Given the description of an element on the screen output the (x, y) to click on. 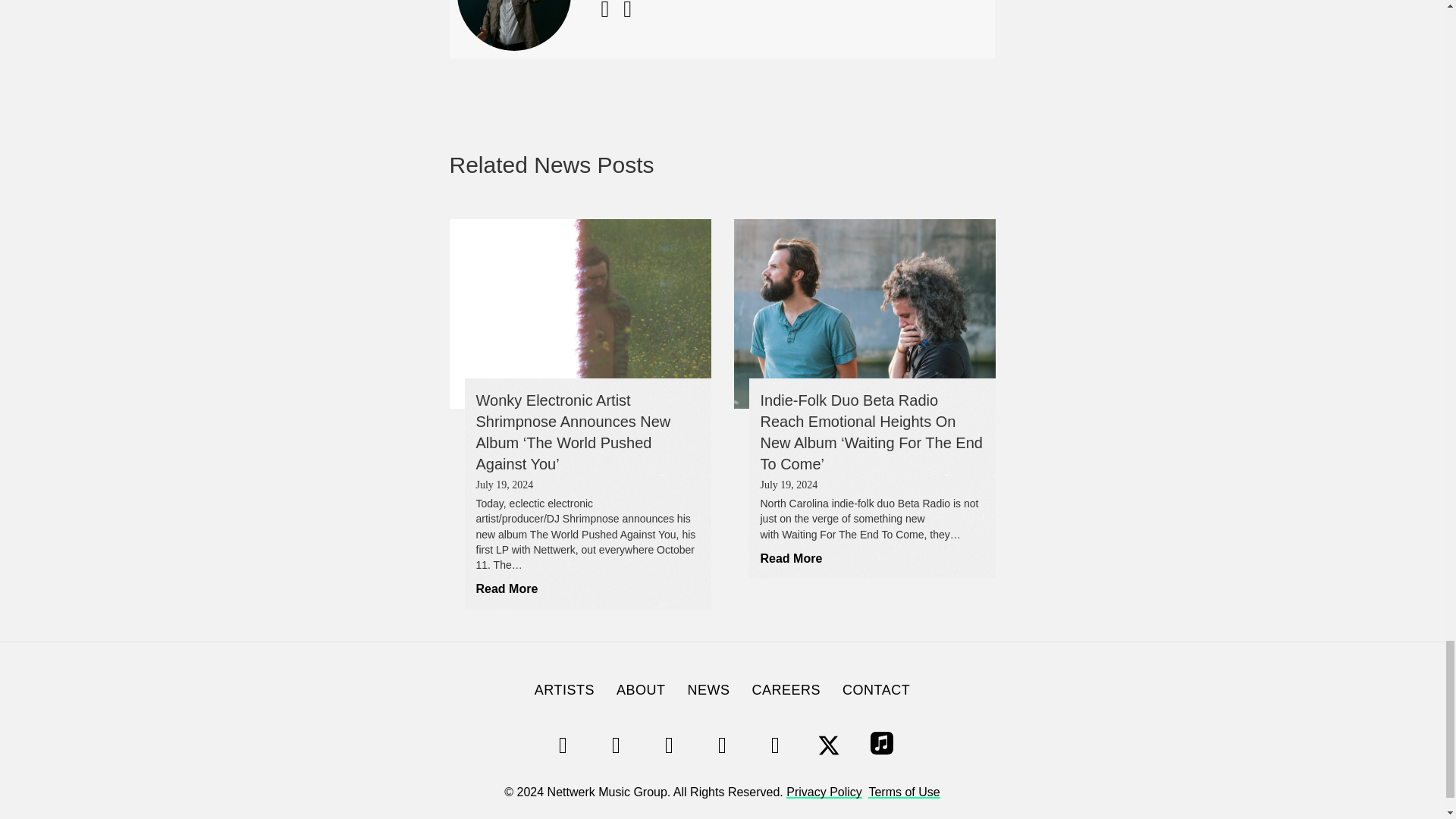
Instagram (615, 745)
TikTok (668, 745)
Spotify (562, 745)
CONTACT (875, 689)
ABOUT (641, 689)
YouTube (721, 745)
ARTISTS (564, 689)
Facebook (774, 745)
CAREERS (786, 689)
Terms of Use (903, 791)
NEWS (708, 689)
Privacy Policy (823, 791)
Apple Music (881, 745)
